Given the description of an element on the screen output the (x, y) to click on. 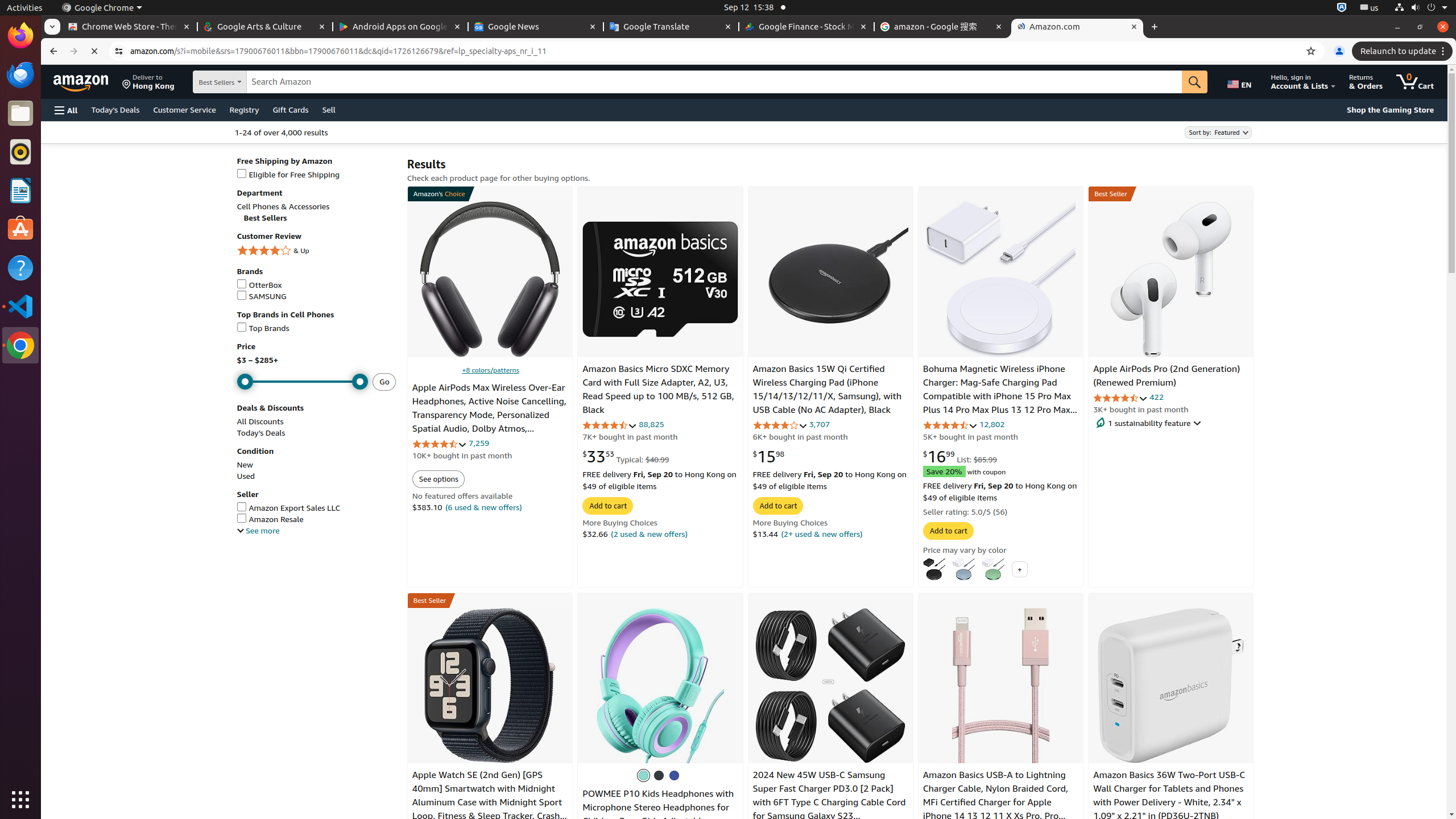
Amazon Export Sales LLC Element type: list-item (315, 508)
4.4 out of 5 stars Element type: push-button (949, 425)
Choose a language for shopping. Element type: link (1241, 81)
Skip to main content Element type: link (87, 80)
Ubuntu Software Element type: push-button (20, 229)
